Given the description of an element on the screen output the (x, y) to click on. 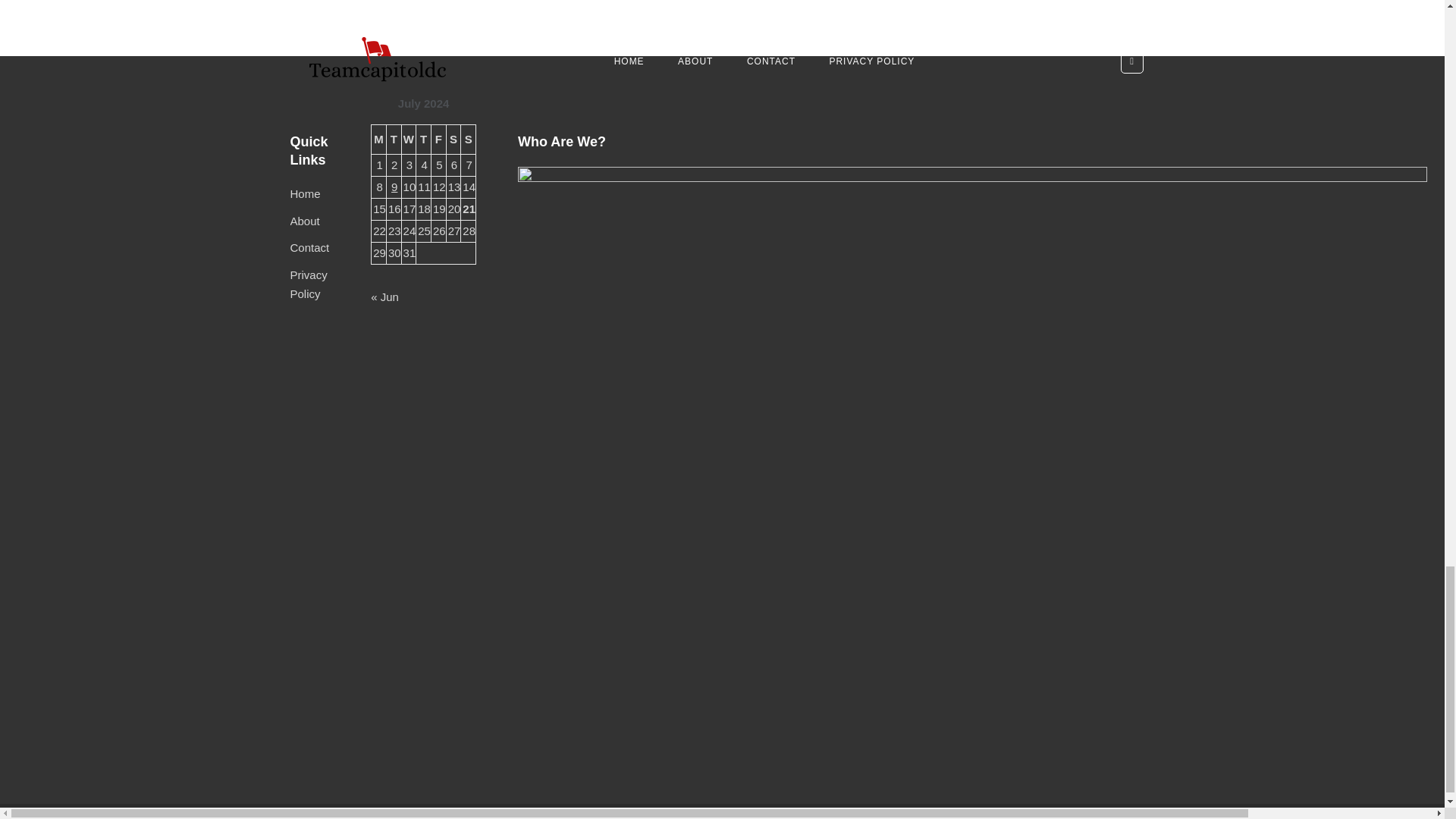
Home (304, 193)
